Given the description of an element on the screen output the (x, y) to click on. 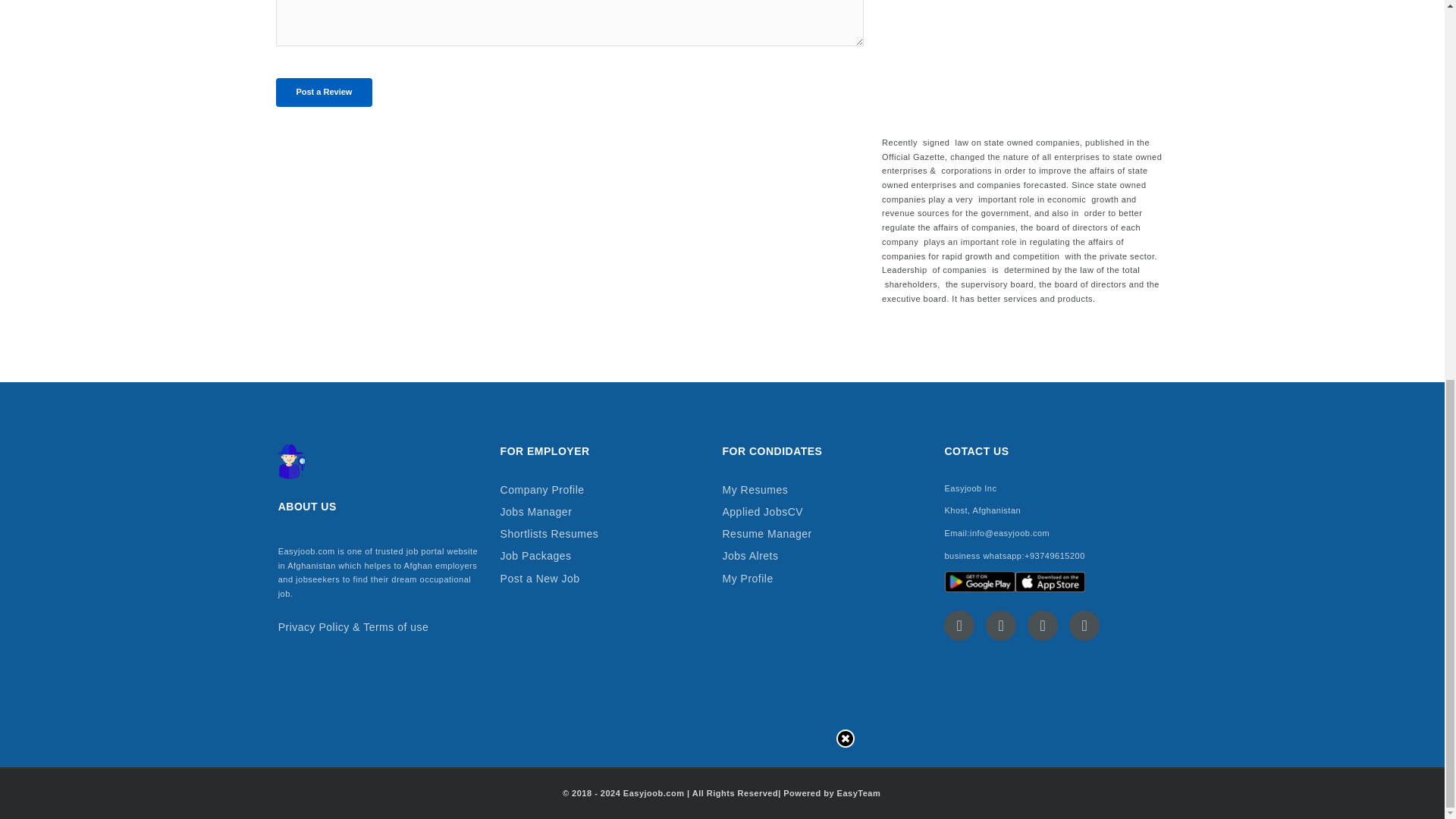
Post a New Job (602, 579)
Job Packages (602, 556)
Applied JobsCV (824, 512)
Jobs Manager (602, 512)
My Resumes (824, 490)
Shortlists Resumes (602, 534)
Easyjoob.com (306, 551)
Company Profile (602, 490)
Post a Review (323, 92)
